Given the description of an element on the screen output the (x, y) to click on. 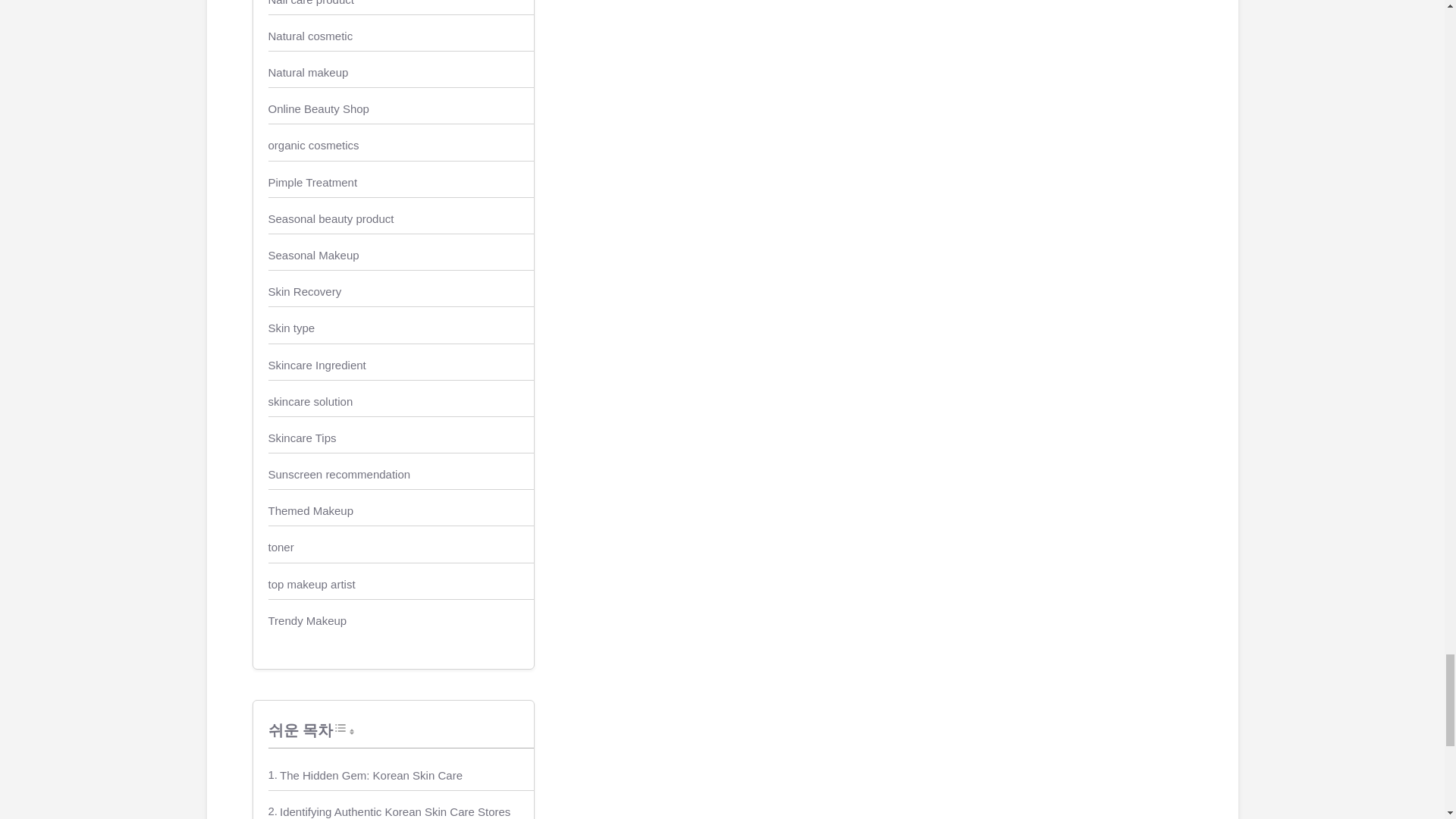
The Hidden Gem: Korean Skin Care (371, 775)
